Given the description of an element on the screen output the (x, y) to click on. 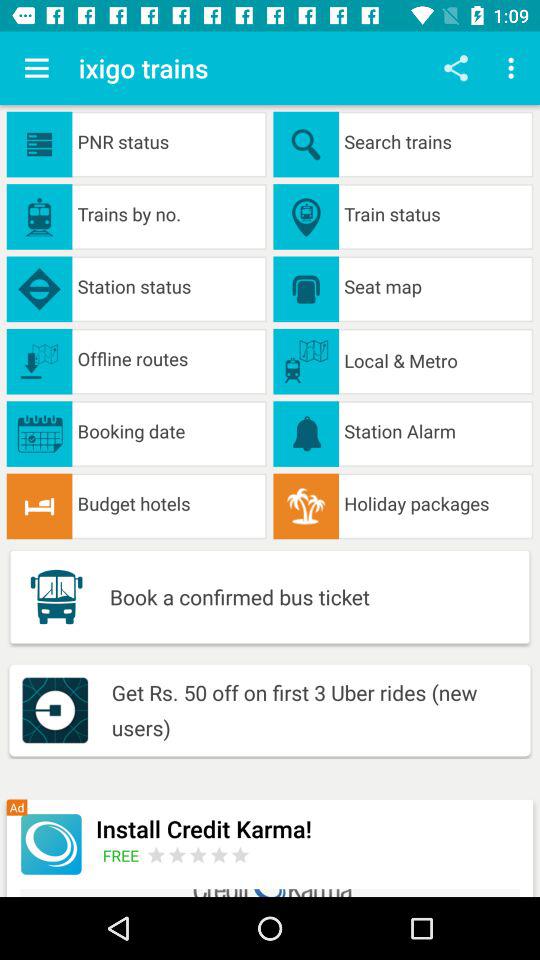
share (455, 67)
